Given the description of an element on the screen output the (x, y) to click on. 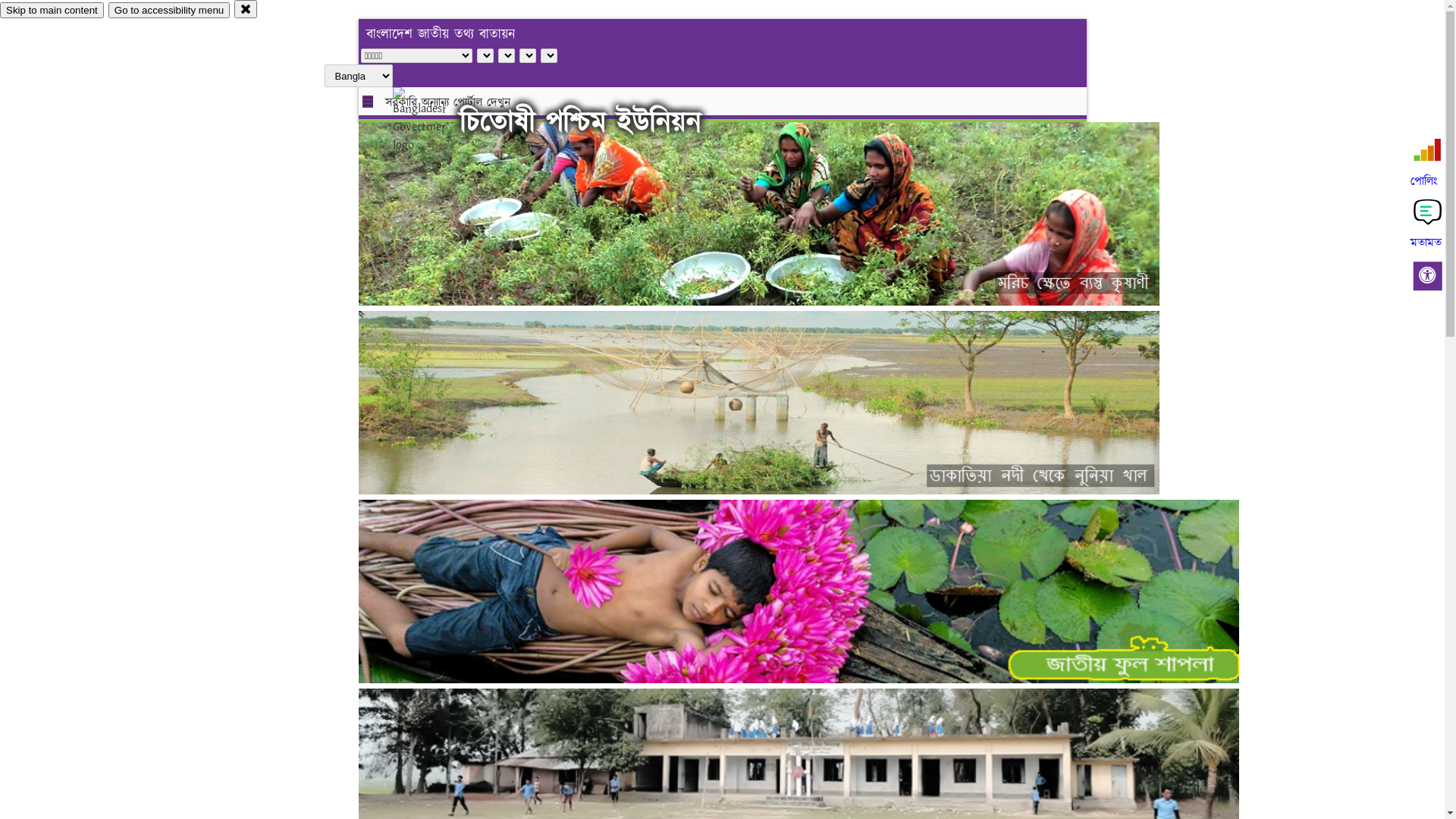

                
             Element type: hover (431, 120)
close Element type: hover (245, 9)
Go to accessibility menu Element type: text (168, 10)
Skip to main content Element type: text (51, 10)
